Given the description of an element on the screen output the (x, y) to click on. 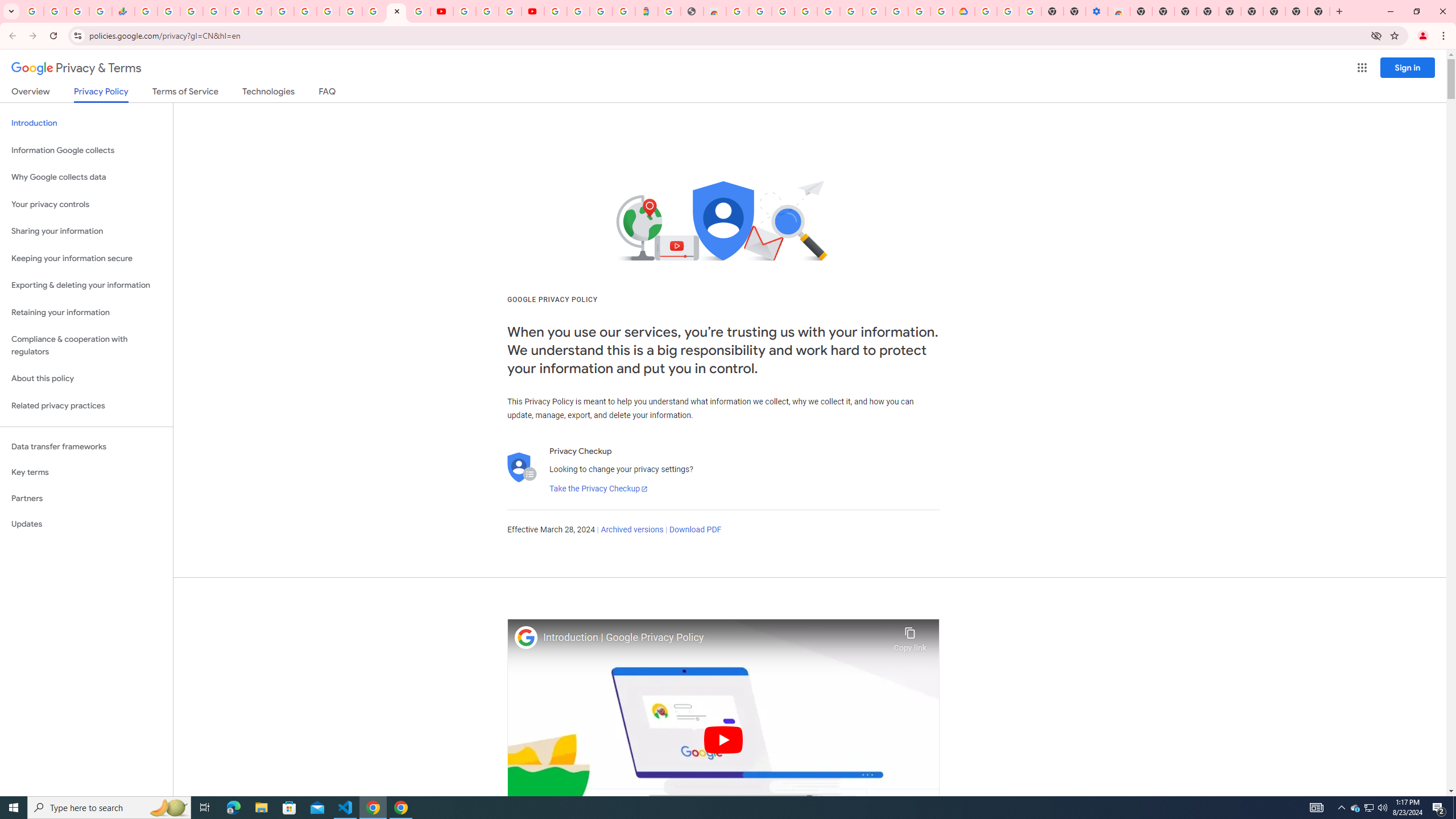
Privacy Checkup (419, 11)
Sign in - Google Accounts (214, 11)
Create your Google Account (510, 11)
Android TV Policies and Guidelines - Transparency Center (282, 11)
Google Account Help (874, 11)
Bookmark this tab (1393, 35)
Sign in (1407, 67)
Your privacy controls (86, 204)
Create your Google Account (919, 11)
Information Google collects (86, 150)
Sign in - Google Accounts (578, 11)
Introduction | Google Privacy Policy (715, 637)
YouTube (441, 11)
